Given the description of an element on the screen output the (x, y) to click on. 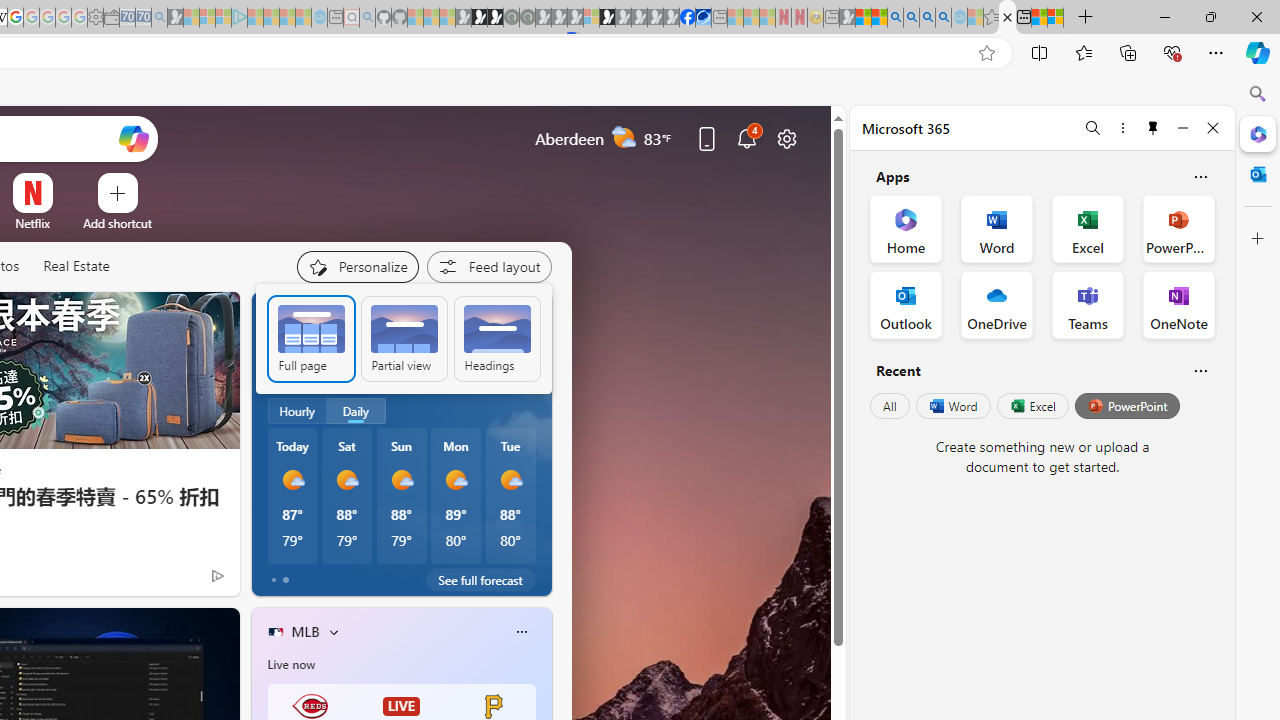
Real Estate (75, 267)
AirNow.gov (703, 17)
Partly sunny (289, 368)
Netflix (32, 223)
